Given the description of an element on the screen output the (x, y) to click on. 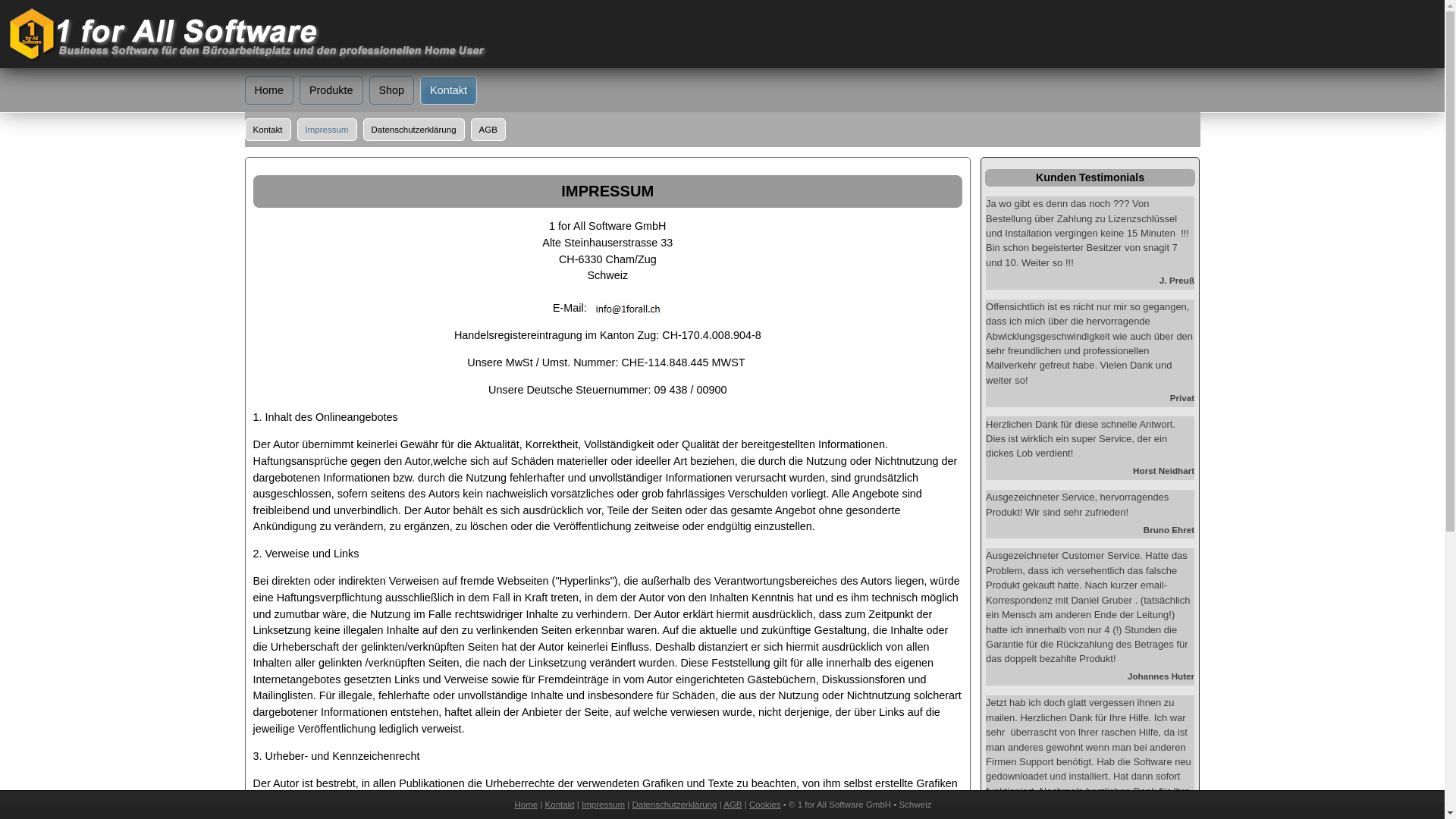
Kontakt Element type: text (267, 129)
Produkte Element type: text (331, 89)
Cookies Element type: text (765, 804)
Impressum Element type: text (602, 804)
Kontakt Element type: text (559, 804)
Kontakt Element type: text (448, 89)
AGB Element type: text (487, 129)
Home Element type: text (525, 804)
Impressum Element type: text (327, 129)
Shop Element type: text (391, 89)
Home Element type: text (268, 89)
AGB Element type: text (732, 804)
